Given the description of an element on the screen output the (x, y) to click on. 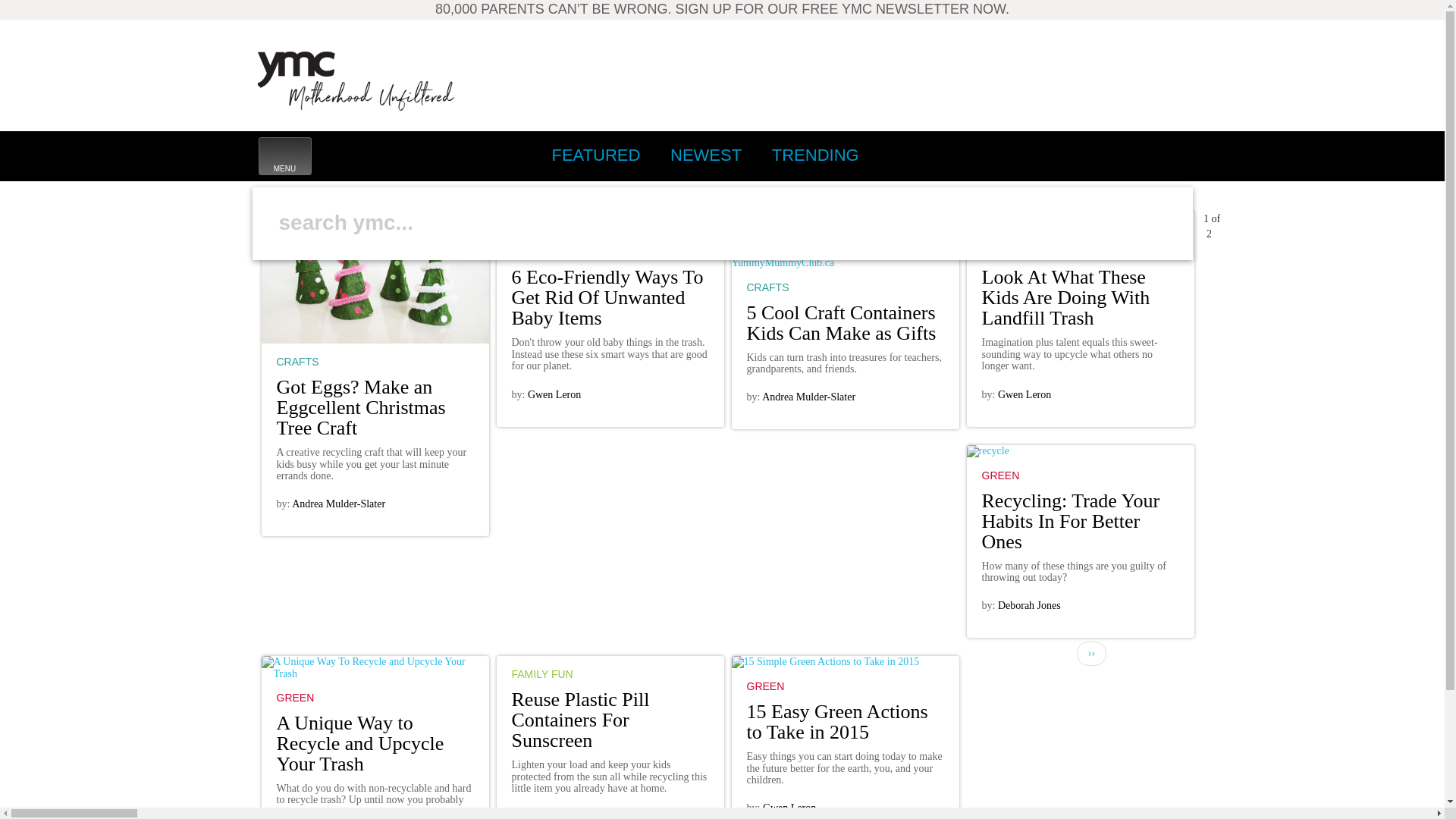
Enter the terms you wish to search for. (284, 156)
RSS (704, 222)
Skip to main content (1101, 154)
NEWEST (1068, 154)
Facebook (705, 155)
SEARCH (1001, 154)
Home (591, 205)
Instagram (355, 79)
Twitter (1034, 154)
YouTube (1135, 154)
FEATURED (1168, 154)
Search (595, 155)
TRENDING (275, 276)
